Given the description of an element on the screen output the (x, y) to click on. 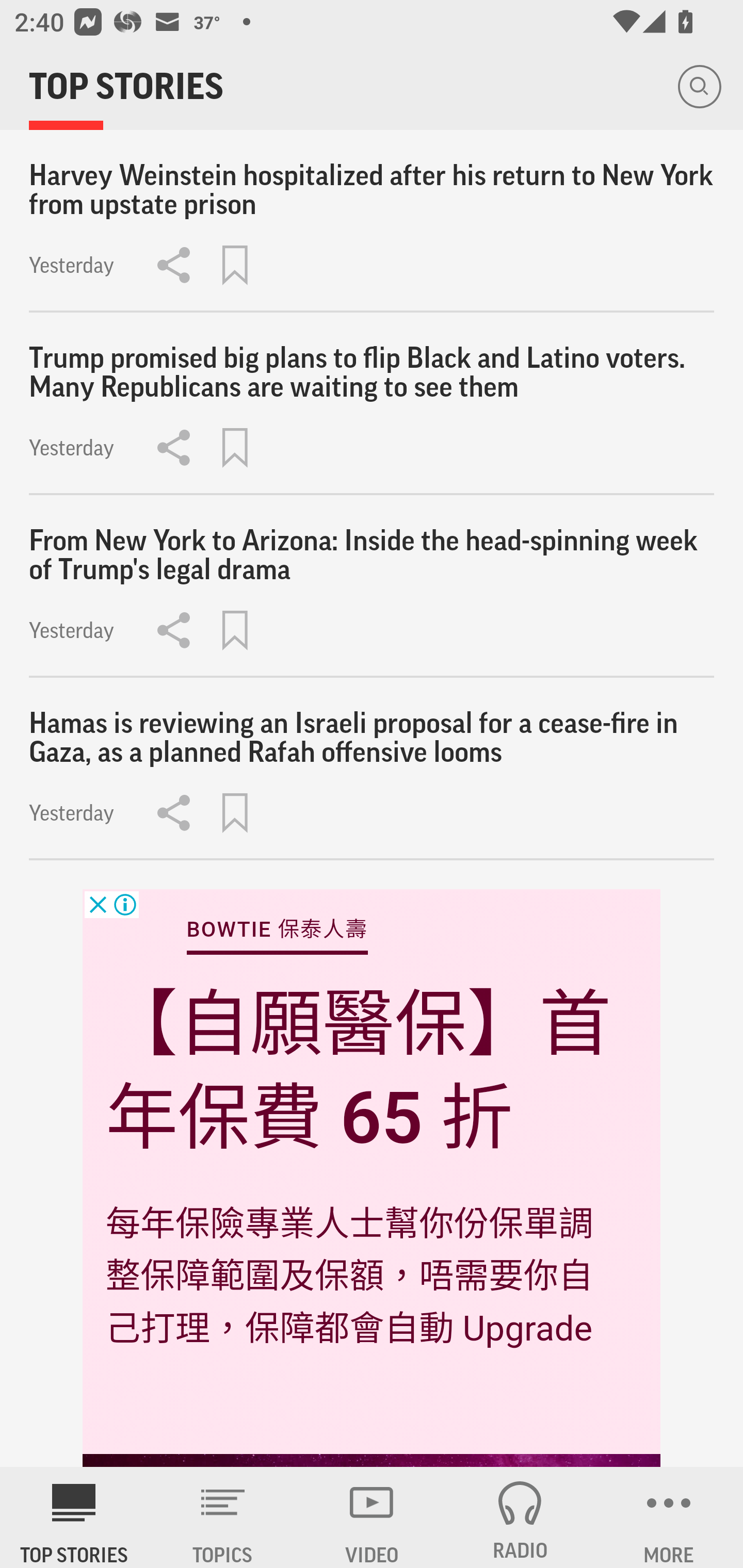
AP News TOP STORIES (74, 1517)
TOPICS (222, 1517)
VIDEO (371, 1517)
RADIO (519, 1517)
MORE (668, 1517)
